Given the description of an element on the screen output the (x, y) to click on. 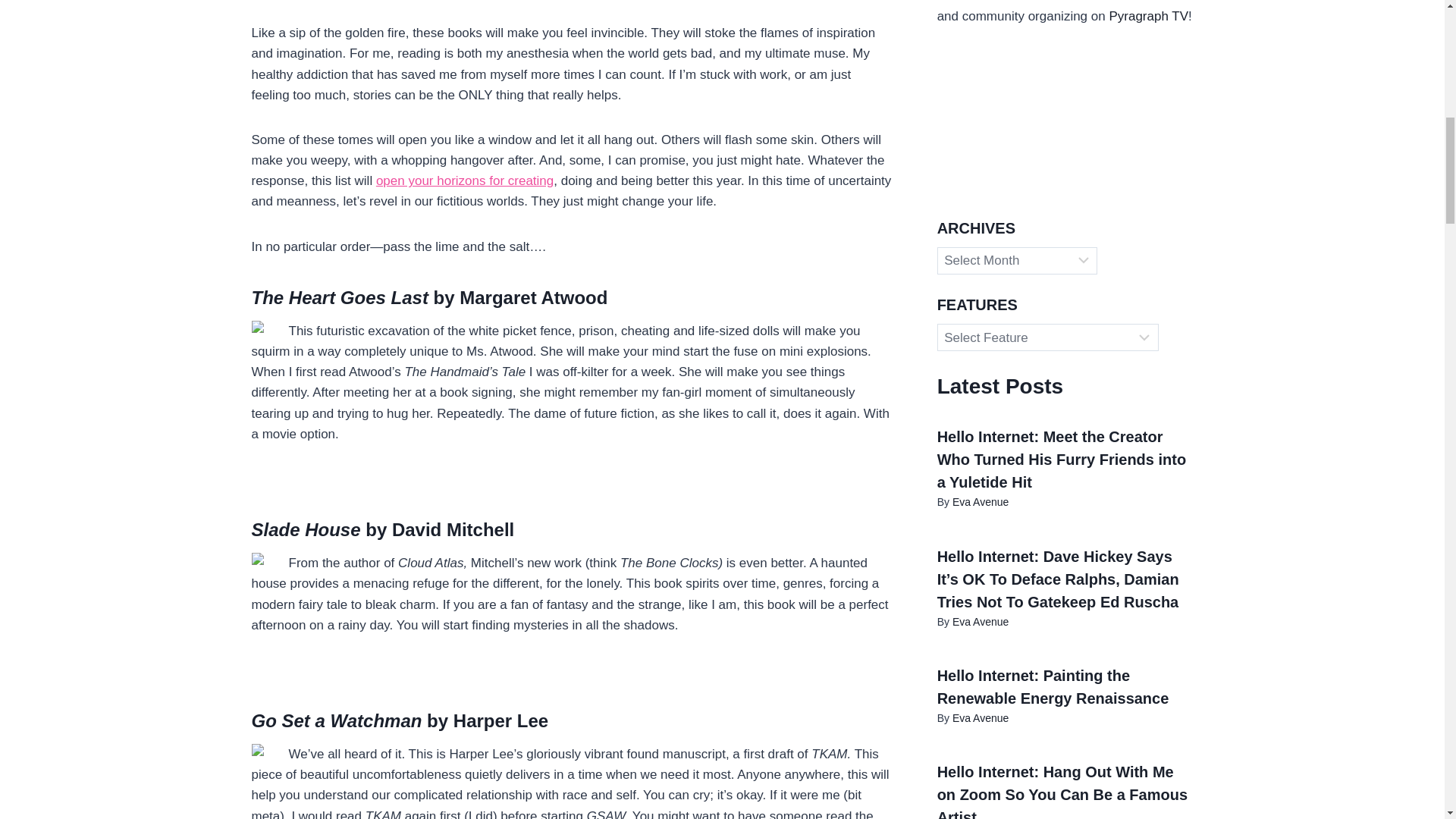
The Heart Goes Last by Margaret Atwood (429, 297)
Slade House by David Mitchell (383, 529)
Go Set a Watchman by Harper Lee (399, 720)
open your horizons for creating (464, 180)
